Given the description of an element on the screen output the (x, y) to click on. 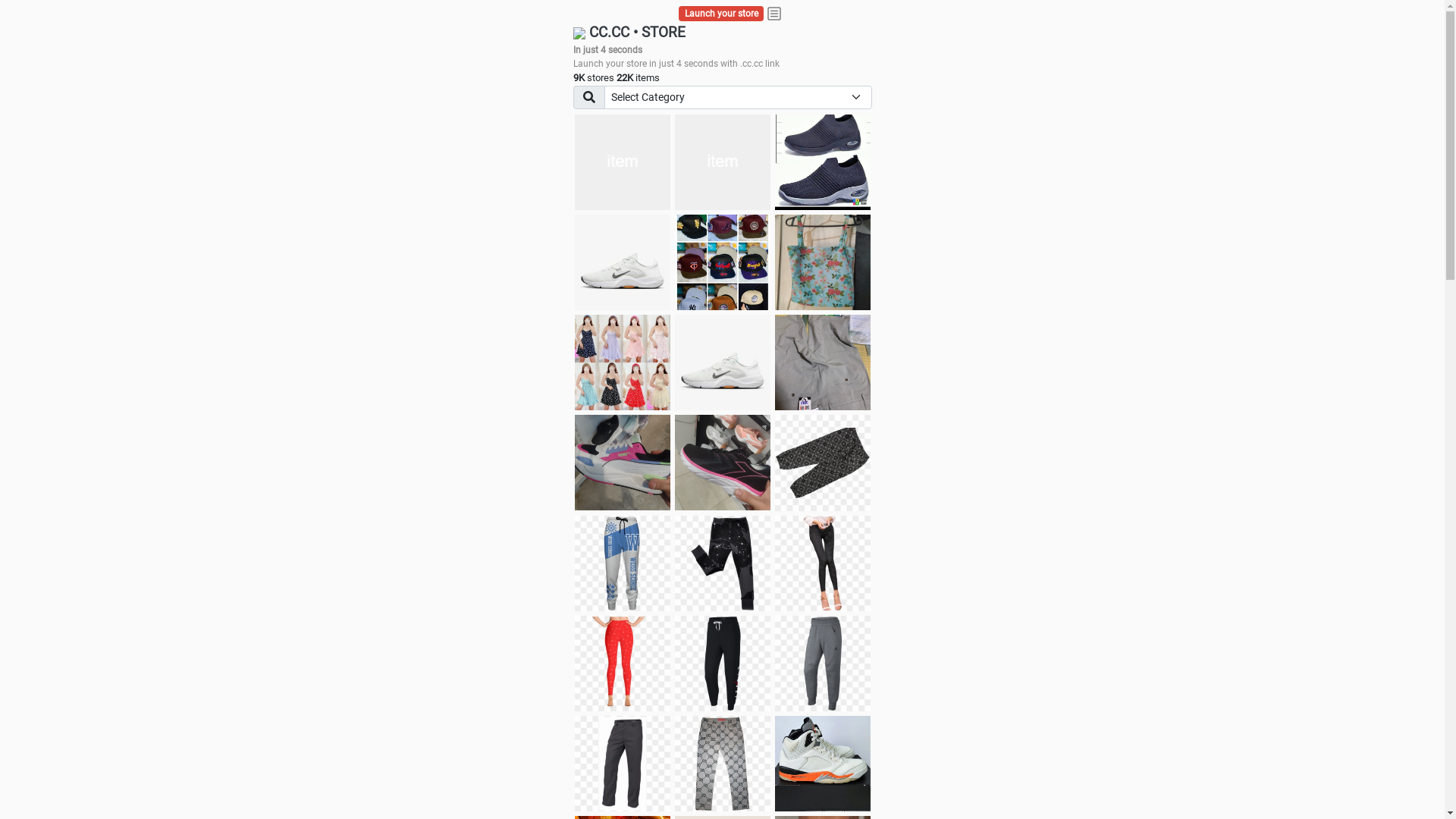
Things we need Element type: hover (722, 262)
shoes for boys Element type: hover (822, 162)
Pant Element type: hover (722, 663)
Ukay cloth Element type: hover (822, 262)
Pant Element type: hover (622, 563)
Shoe Element type: hover (822, 763)
Shoes for boys Element type: hover (622, 262)
Pant Element type: hover (622, 663)
Shoes Element type: hover (722, 362)
Zapatillas Element type: hover (722, 462)
Pant Element type: hover (622, 763)
Short pant Element type: hover (822, 462)
jacket Element type: hover (622, 162)
white shoes Element type: hover (722, 162)
Pant Element type: hover (822, 563)
Launch your store Element type: text (721, 13)
Pant Element type: hover (722, 563)
Pant Element type: hover (722, 763)
Dress/square nect top Element type: hover (622, 362)
Pant Element type: hover (822, 663)
Zapatillas pumas Element type: hover (622, 462)
